Given the description of an element on the screen output the (x, y) to click on. 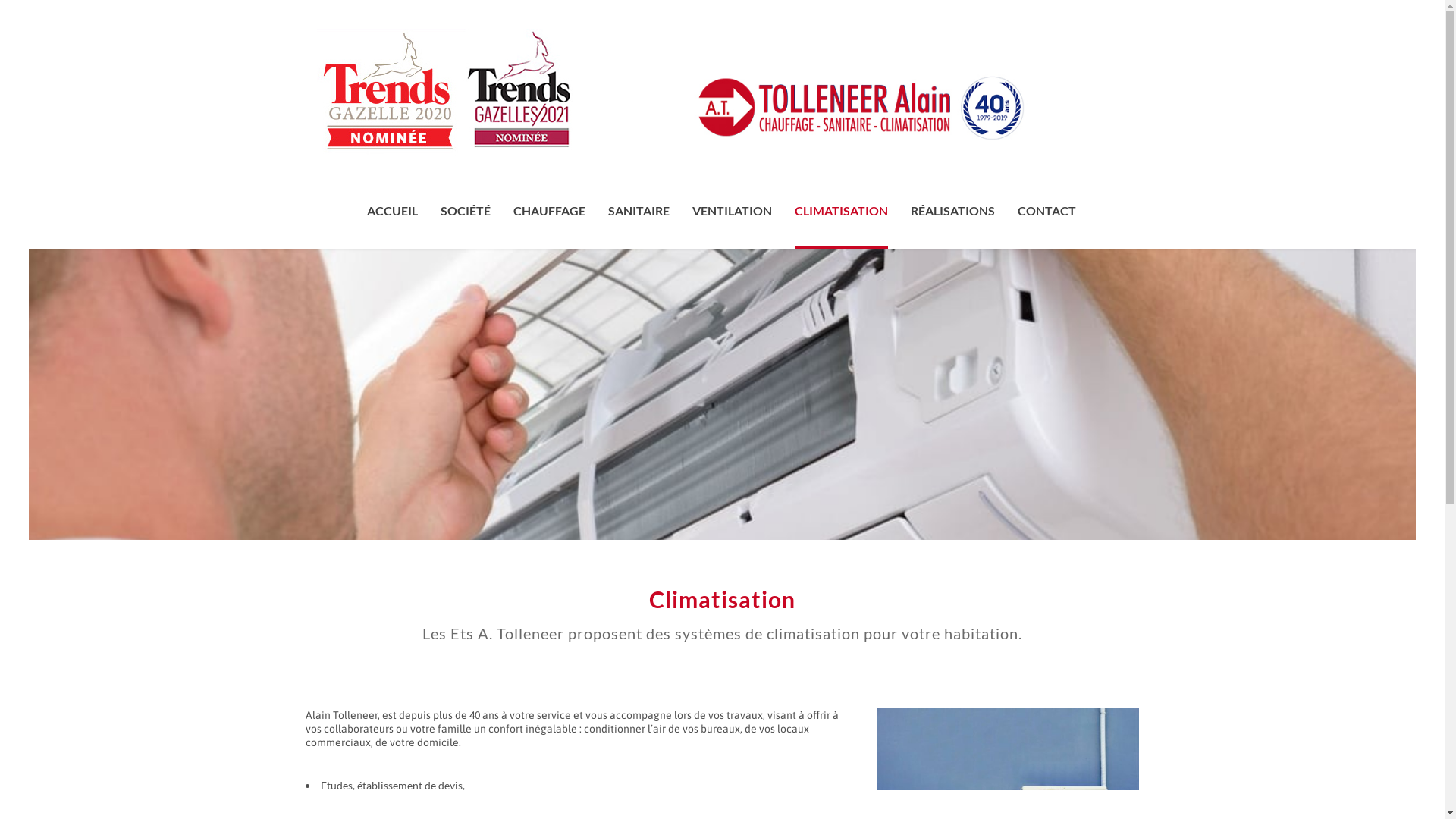
CHAUFFAGE Element type: text (549, 209)
VENTILATION Element type: text (731, 209)
CONTACT Element type: text (1045, 209)
ACCUEIL Element type: text (391, 209)
SANITAIRE Element type: text (638, 209)
CLIMATISATION Element type: text (840, 209)
